Given the description of an element on the screen output the (x, y) to click on. 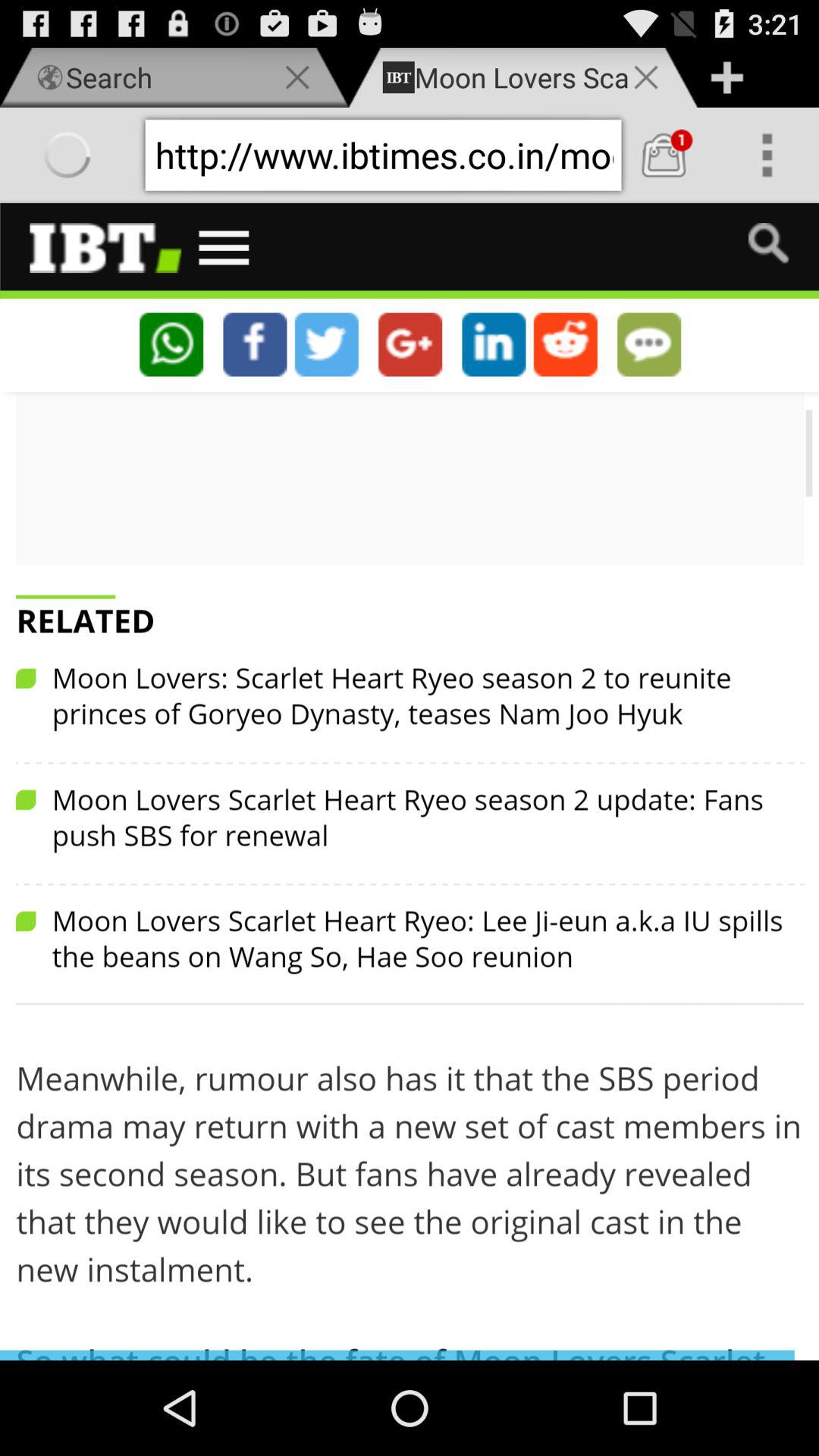
navi browser fast internet (663, 155)
